Given the description of an element on the screen output the (x, y) to click on. 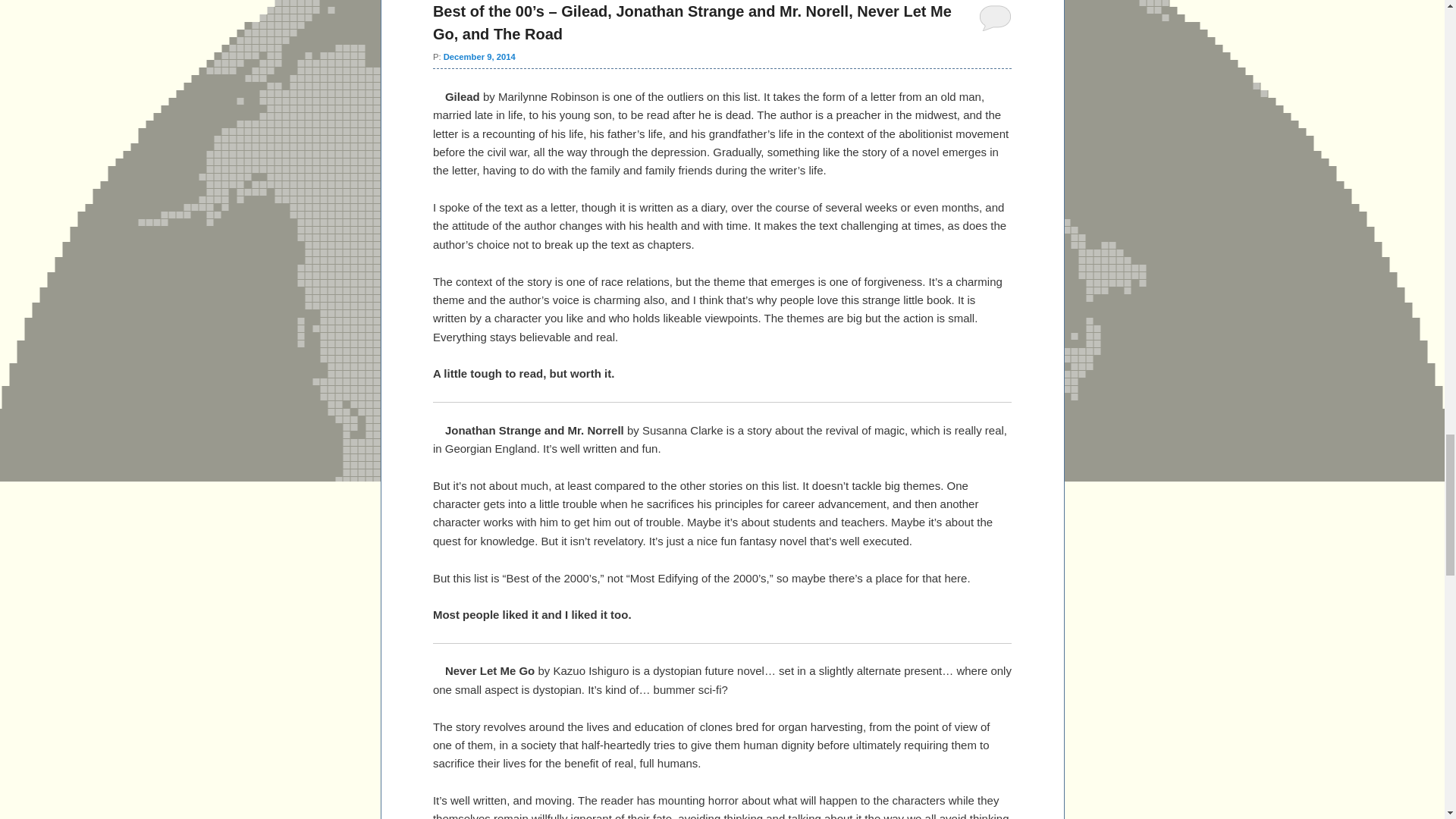
2:56 pm (479, 56)
December 9, 2014 (479, 56)
